Given the description of an element on the screen output the (x, y) to click on. 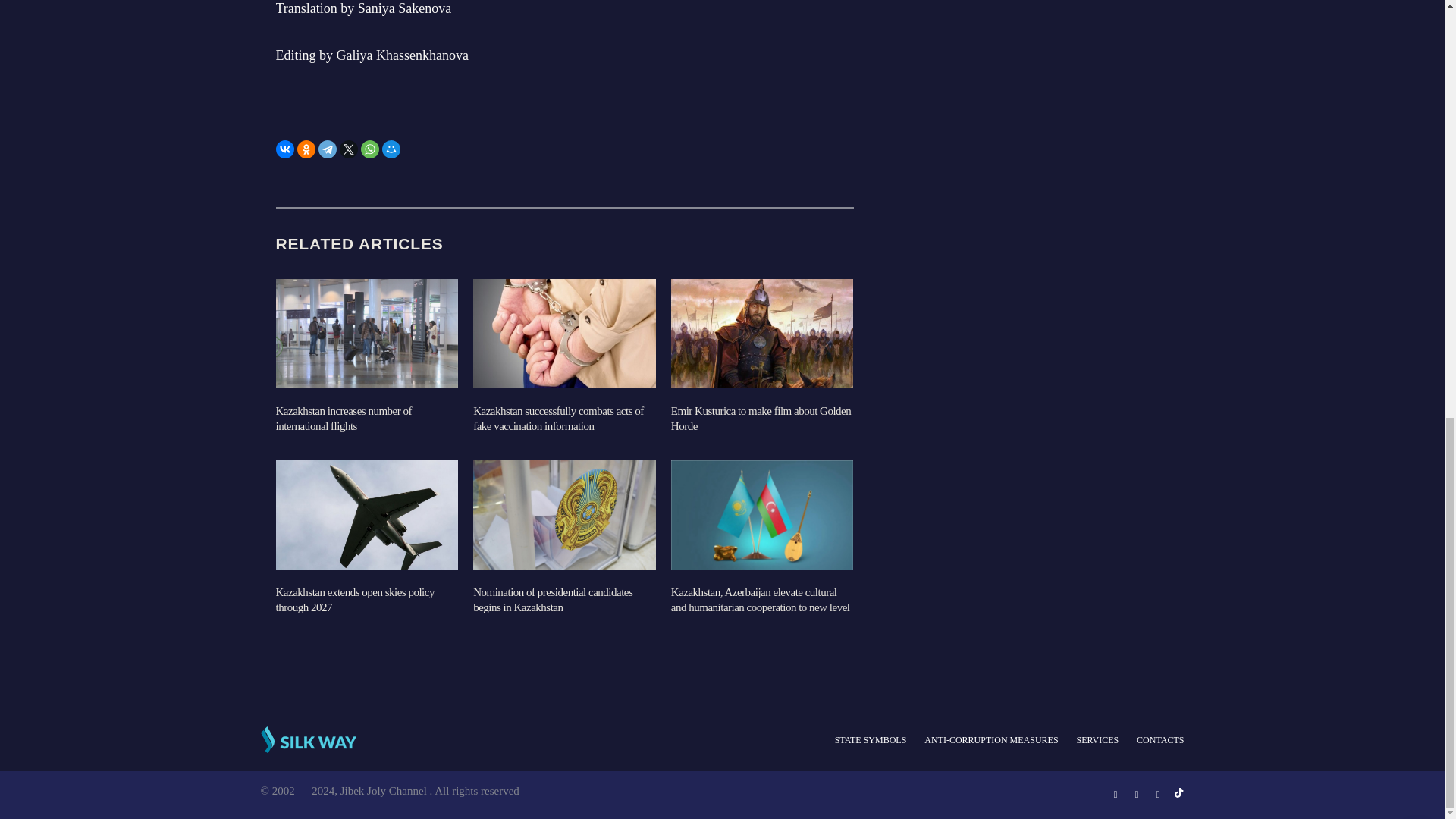
Telegram (327, 149)
WhatsApp (369, 149)
VKontakte (285, 149)
Twitter (348, 149)
Odnoklassniki (306, 149)
Moy Mir (390, 149)
